Given the description of an element on the screen output the (x, y) to click on. 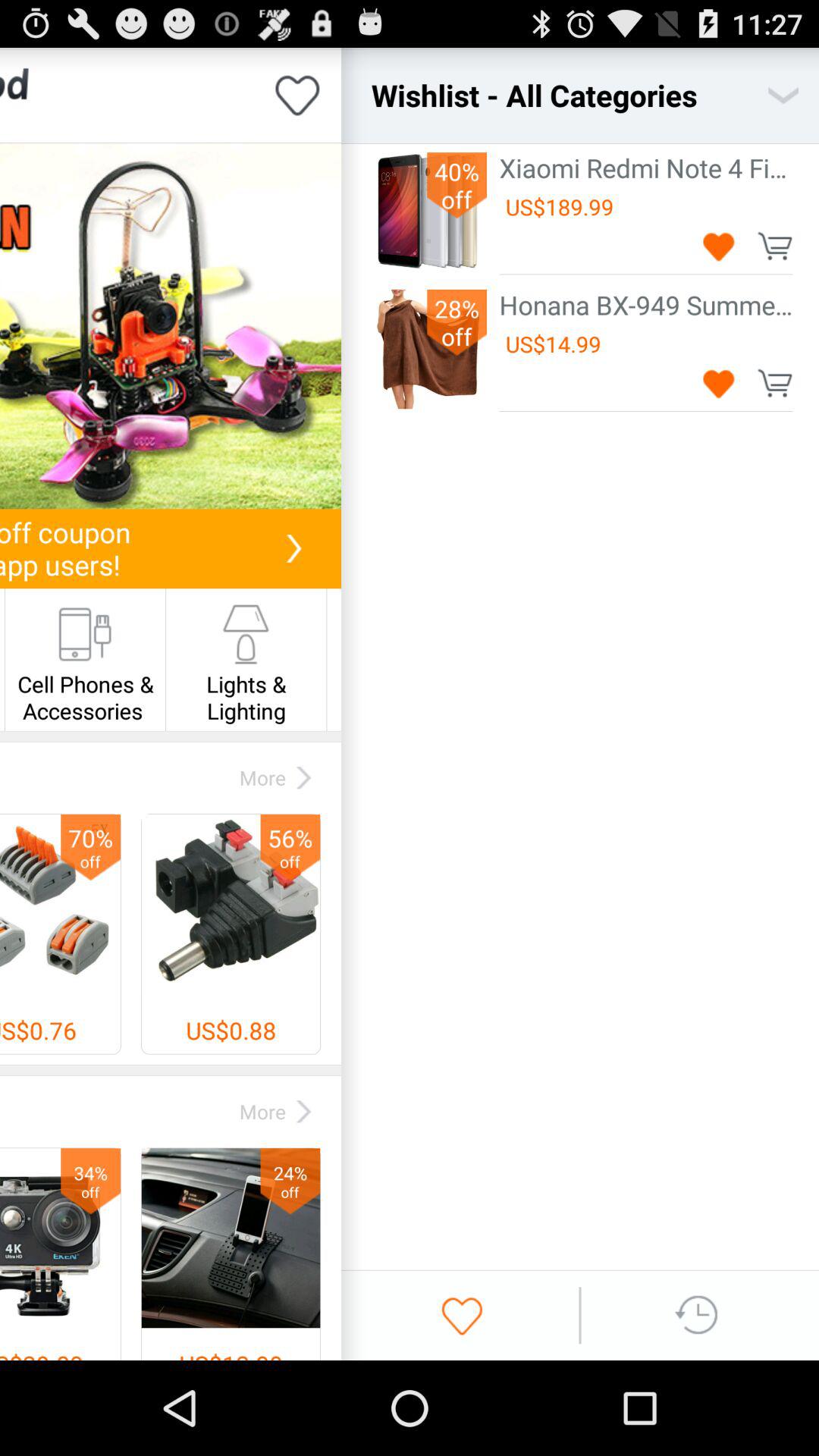
select this item (170, 326)
